Given the description of an element on the screen output the (x, y) to click on. 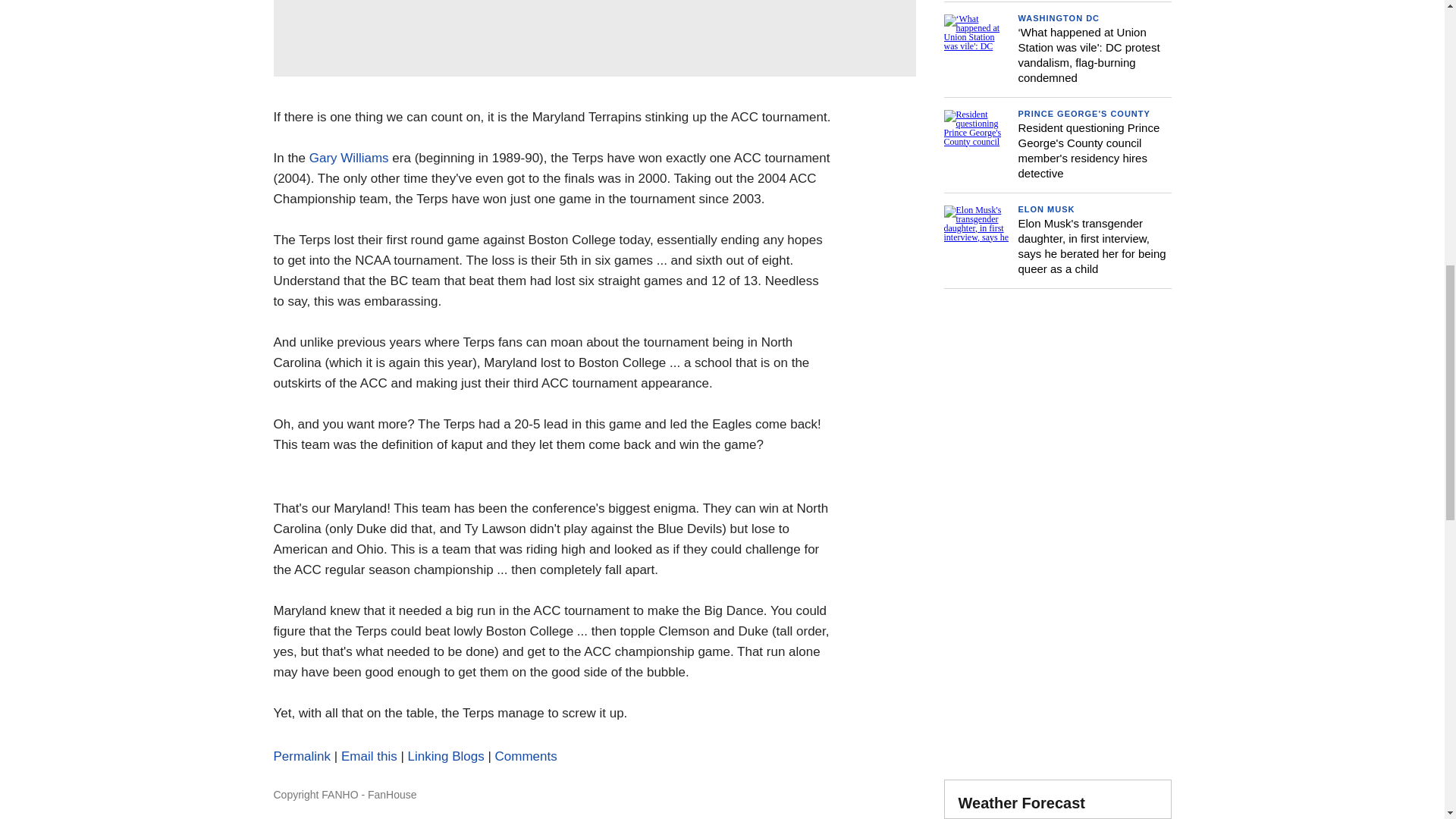
Send this entry to a friend via email (368, 756)
Permanent link to this entry (301, 756)
View reader comments on this entry (526, 756)
Comments (526, 756)
Gary Williams (348, 157)
Linking Blogs (445, 756)
Email this (368, 756)
Permalink (301, 756)
Linking Blogs (445, 756)
